Given the description of an element on the screen output the (x, y) to click on. 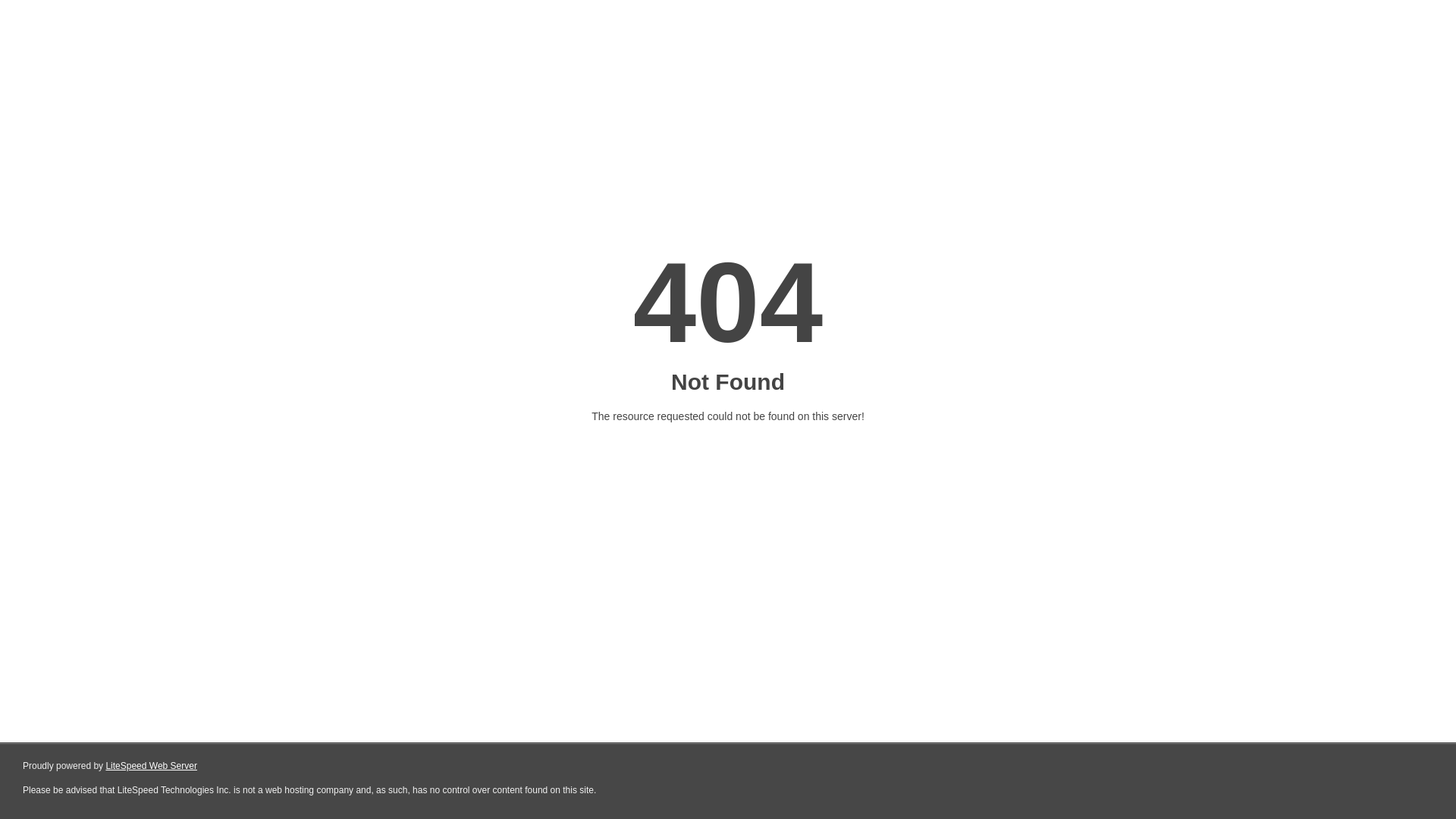
LiteSpeed Web Server (150, 765)
